Given the description of an element on the screen output the (x, y) to click on. 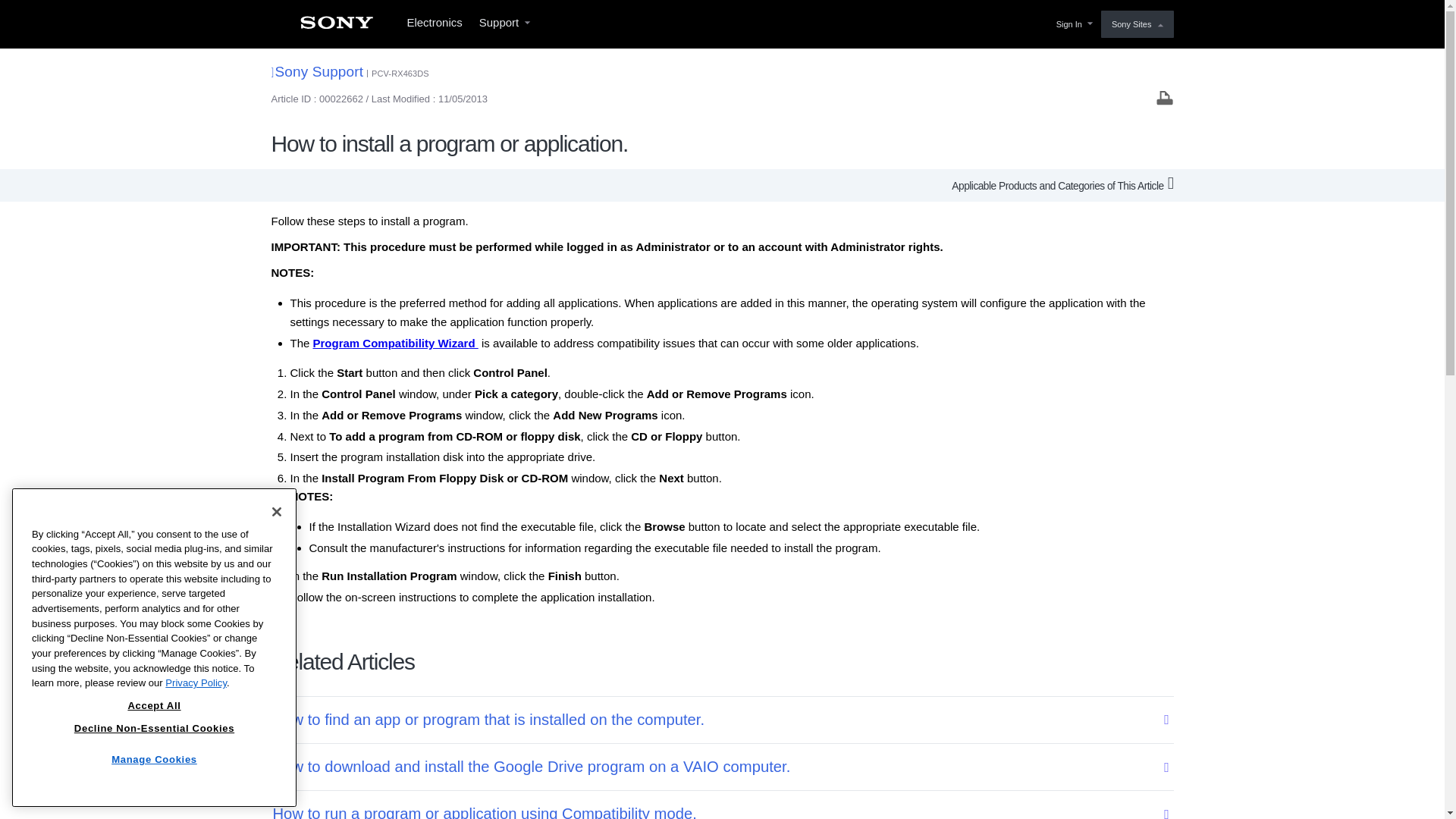
SONY (336, 26)
Support (504, 24)
Program Compatibility Wizard (396, 342)
Sign In (1072, 23)
SONY (336, 26)
PCV-RX463DS (400, 72)
Print (1164, 97)
Sony Sites (1136, 23)
Sony Support (317, 71)
Electronics (434, 24)
